Given the description of an element on the screen output the (x, y) to click on. 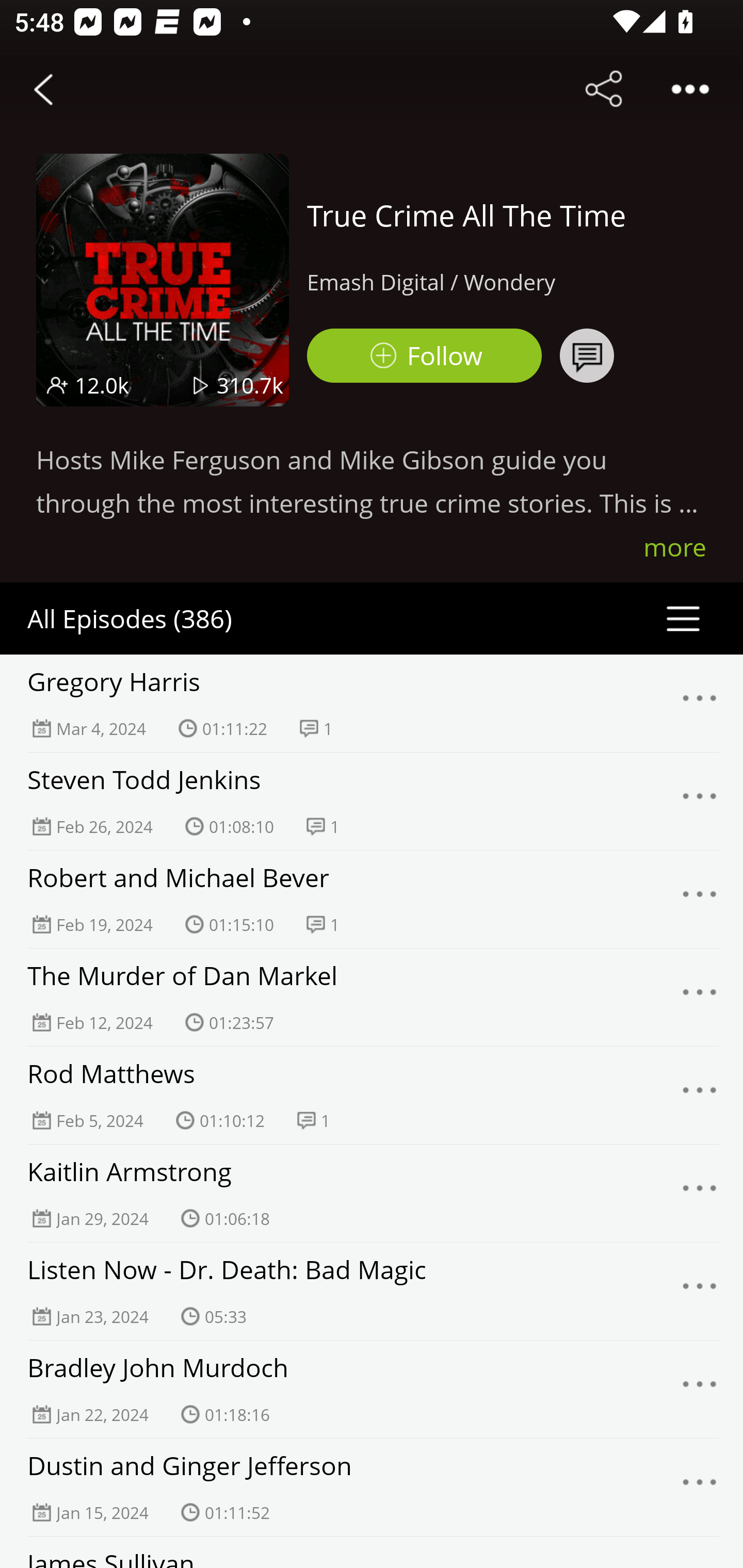
Back (43, 88)
Podbean Follow (423, 355)
12.0k (102, 384)
more (674, 546)
Gregory Harris Mar 4, 2024 01:11:22 1 Menu (371, 702)
Menu (699, 703)
Steven Todd Jenkins Feb 26, 2024 01:08:10 1 Menu (371, 800)
Menu (699, 801)
Menu (699, 899)
Menu (699, 997)
Rod Matthews Feb 5, 2024 01:10:12 1 Menu (371, 1094)
Menu (699, 1095)
Kaitlin Armstrong Jan 29, 2024 01:06:18 Menu (371, 1192)
Menu (699, 1193)
Menu (699, 1291)
Bradley John Murdoch Jan 22, 2024 01:18:16 Menu (371, 1388)
Menu (699, 1389)
Menu (699, 1487)
